Given the description of an element on the screen output the (x, y) to click on. 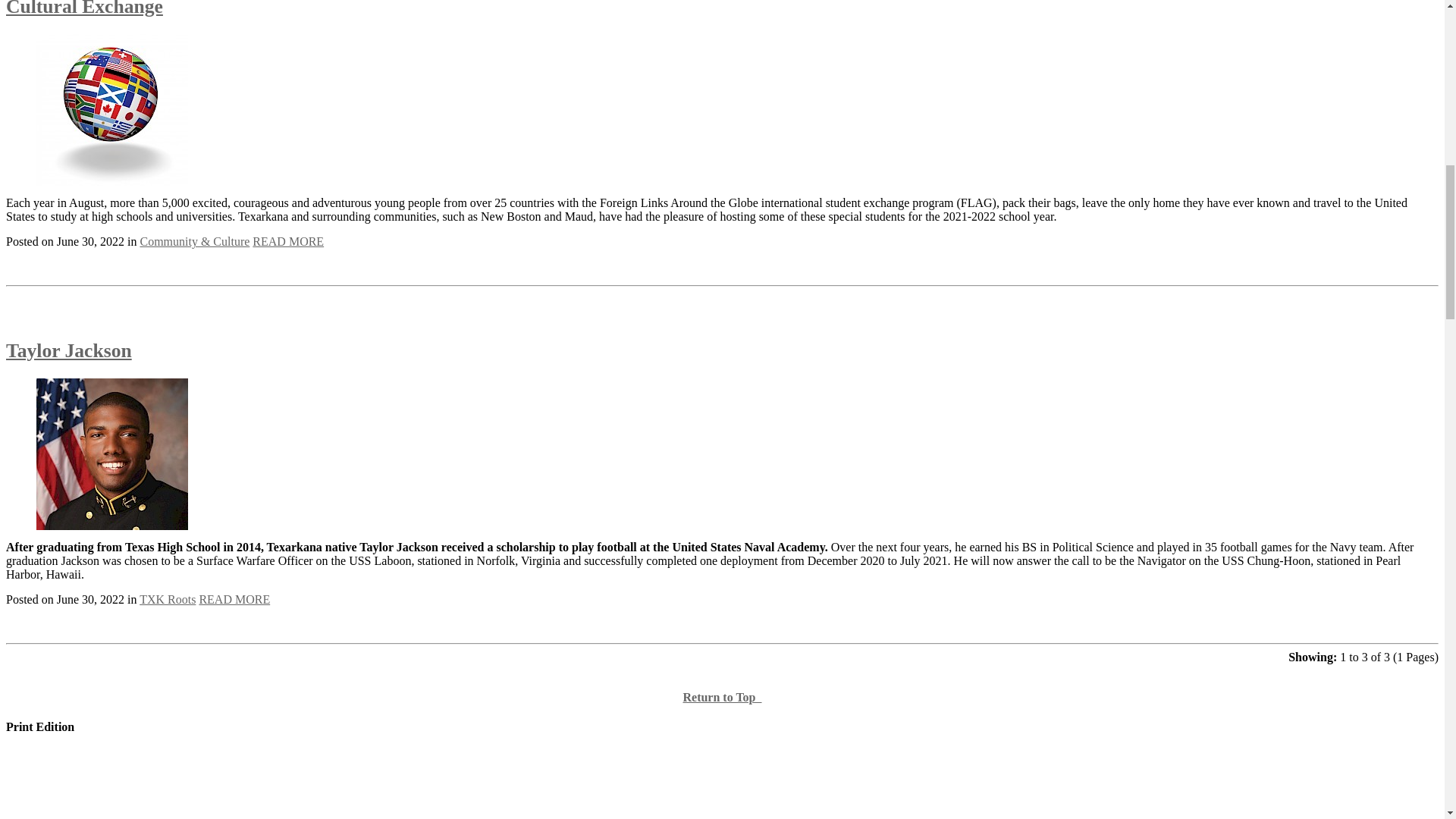
Read More (287, 241)
Cultural Exchange (84, 8)
READ MORE (287, 241)
Return to Top   (721, 697)
TXK Roots (167, 599)
READ MORE (233, 599)
Taylor Jackson (68, 350)
Cultural Exchange (84, 8)
Read More (233, 599)
Taylor Jackson (68, 350)
